Given the description of an element on the screen output the (x, y) to click on. 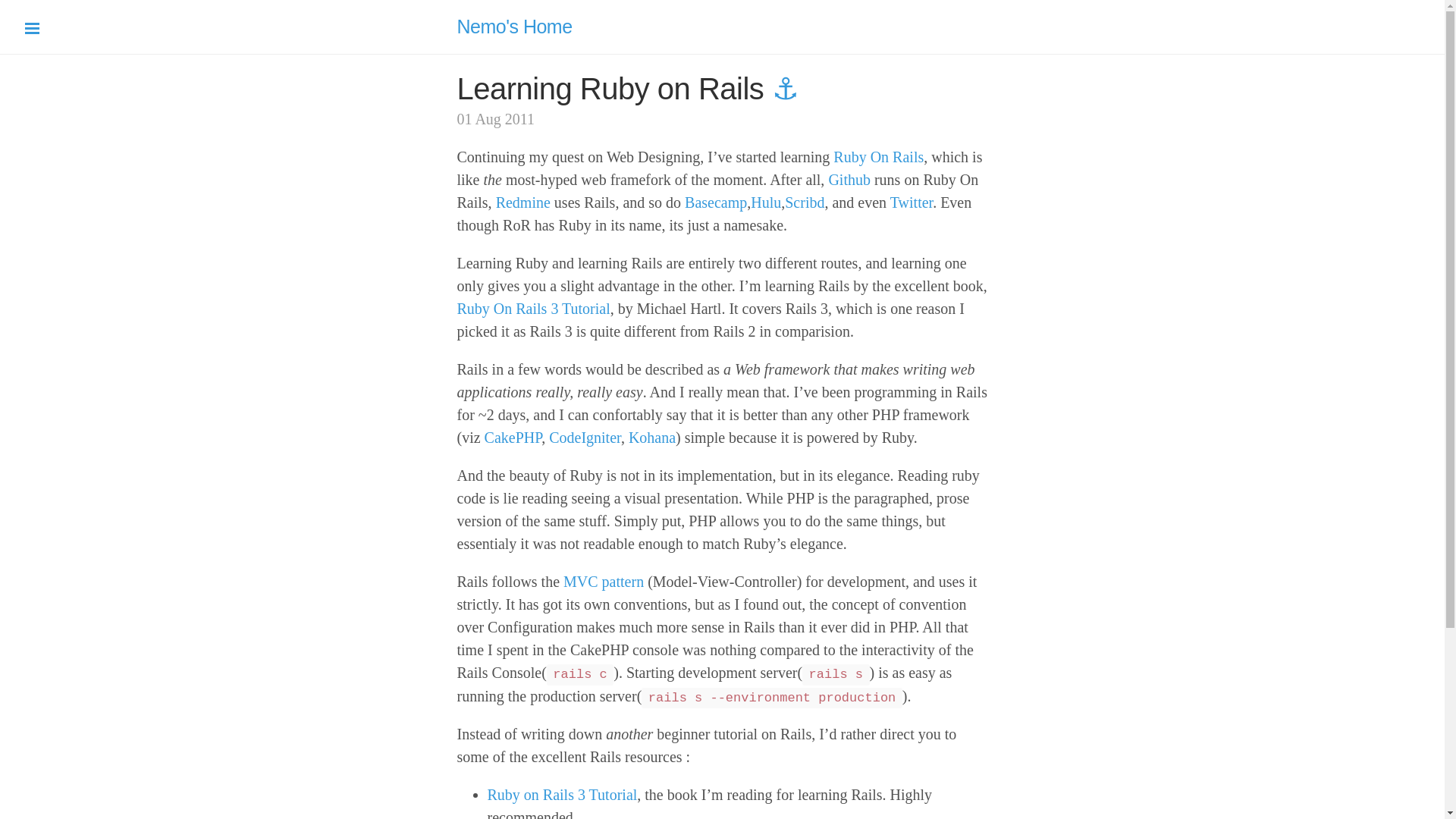
Github (849, 179)
Ruby On Rails Tutorial Book (561, 794)
Ruby On Rails (877, 156)
Hulu (765, 202)
Ruby on Rails 3 Tutorial (561, 794)
GitHub (849, 179)
Model View Conroller (603, 581)
Scribd (804, 202)
Official RoR Site (877, 156)
Home (514, 25)
Ruby On Rails Tutorial Book (533, 308)
CakePHP (512, 437)
A project management system with code browsing (523, 202)
MVC pattern (603, 581)
Nemo's Home (514, 25)
